Given the description of an element on the screen output the (x, y) to click on. 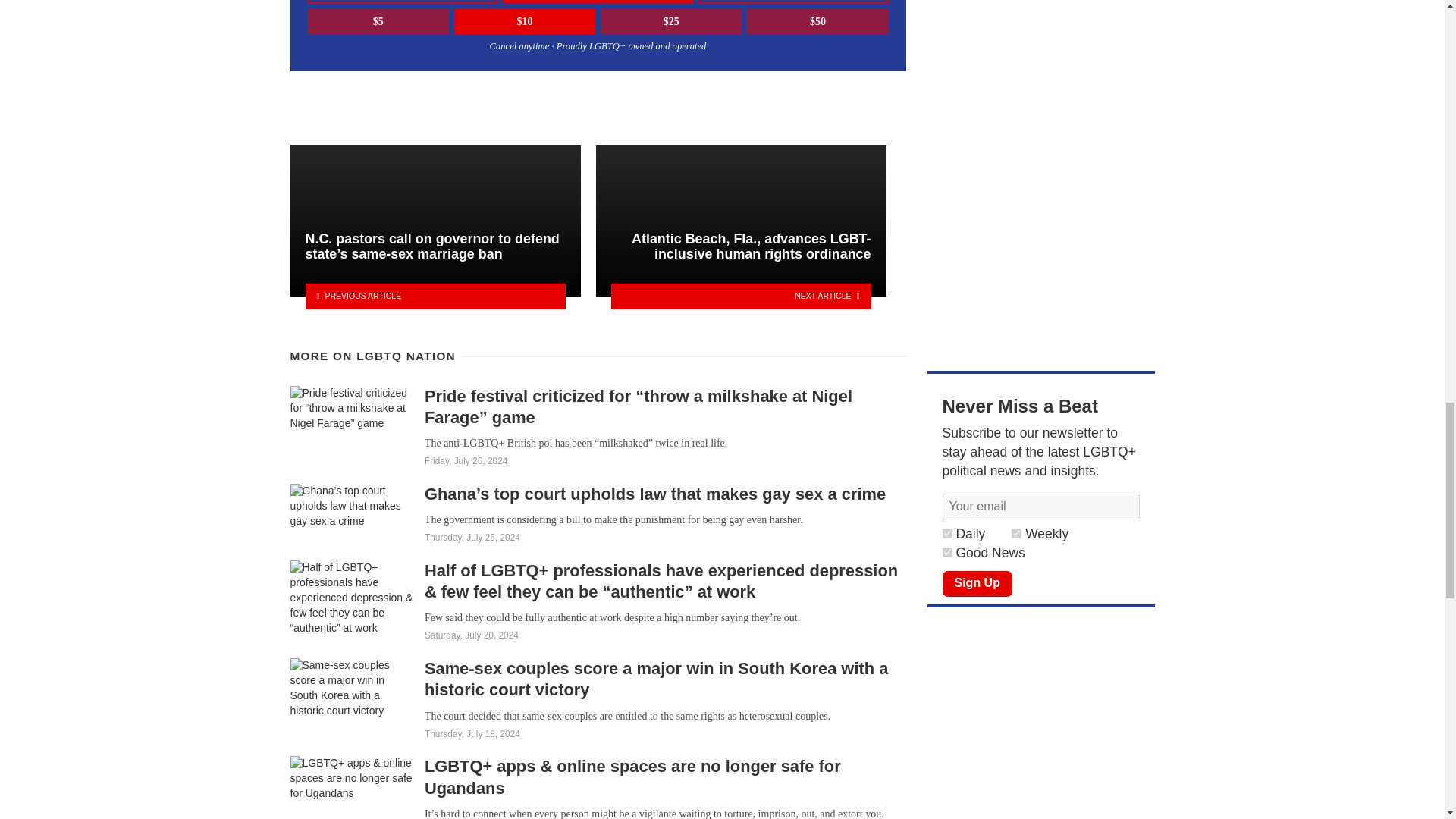
Sign Up (976, 583)
1920885 (947, 533)
1920884 (1016, 533)
1920883 (947, 552)
